Given the description of an element on the screen output the (x, y) to click on. 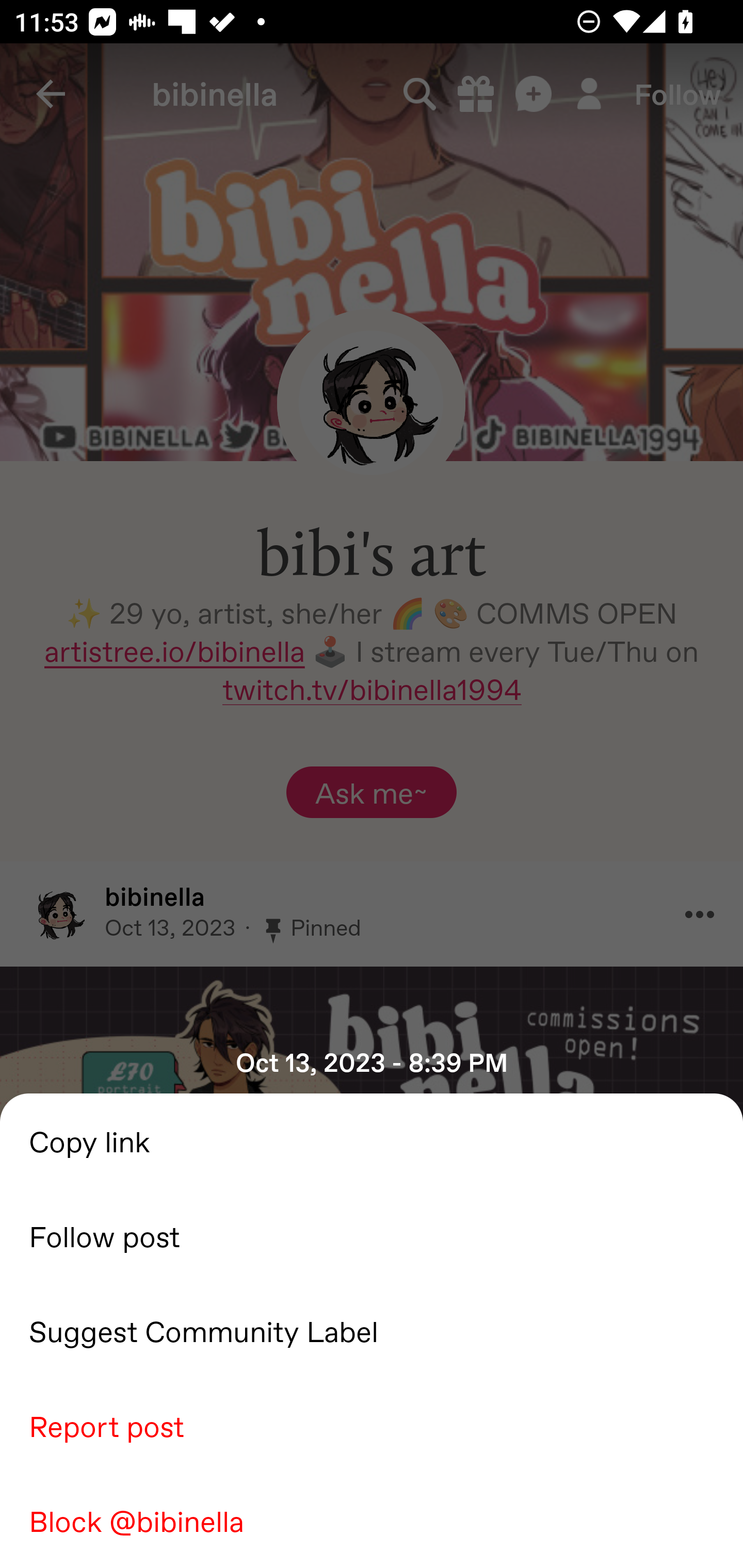
Copy link (371, 1140)
Follow post (371, 1235)
Suggest Community Label (371, 1330)
Report post (371, 1425)
Block @bibinella (371, 1520)
